Given the description of an element on the screen output the (x, y) to click on. 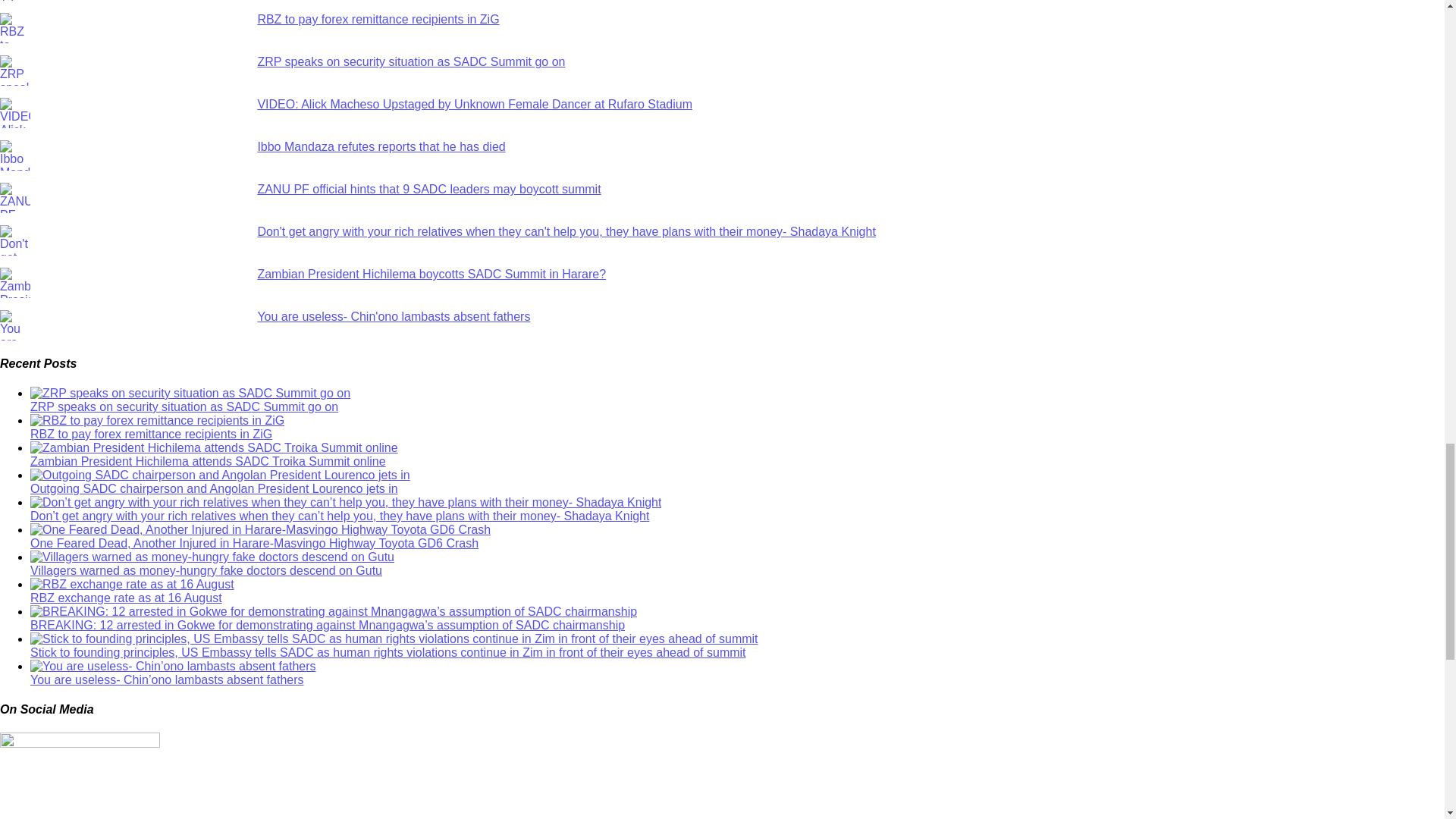
RBZ to pay forex remittance recipients in ZiG (378, 19)
You are useless- Chin'ono lambasts absent fathers (393, 316)
RBZ to pay forex remittance recipients in ZiG (378, 19)
Ibbo Mandaza refutes reports that he has died (381, 146)
RBZ to pay forex remittance recipients in ZiG (151, 433)
ZRP speaks on security situation as SADC Summit go on (410, 61)
Zambian President Hichilema boycotts SADC Summit in Harare? (431, 273)
